Given the description of an element on the screen output the (x, y) to click on. 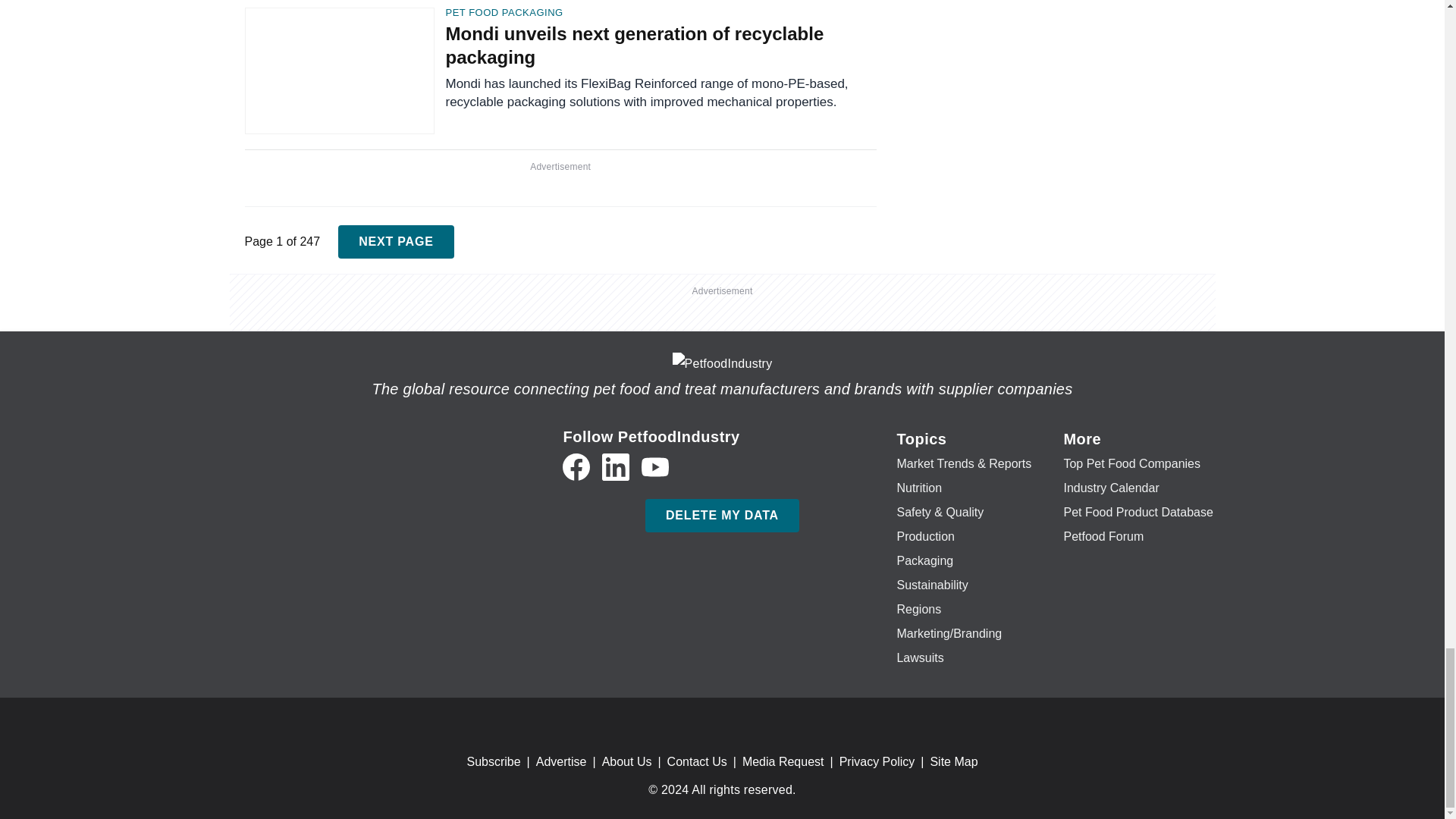
LinkedIn icon (615, 466)
Facebook icon (575, 466)
YouTube icon (655, 466)
